Given the description of an element on the screen output the (x, y) to click on. 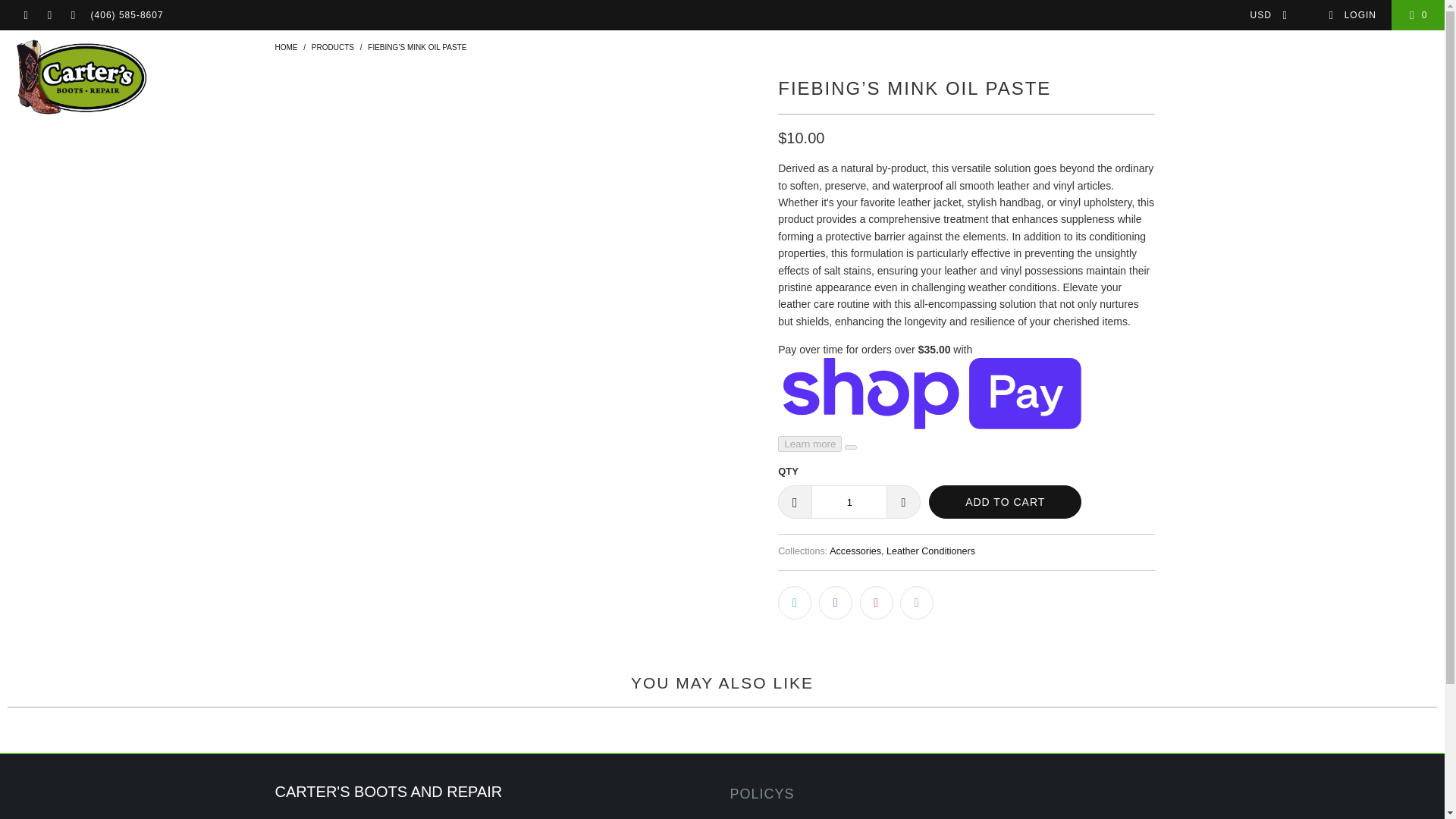
Leather Conditioners (930, 551)
Share this on Facebook (834, 602)
Accessories (854, 551)
1 (848, 501)
My Account  (1351, 15)
Email this to a friend (916, 602)
Share this on Pinterest (876, 602)
Carter's Boots and Repair (81, 77)
Carter's Boots and Repair on Instagram (48, 14)
Products (332, 47)
Email Carter's Boots and Repair (71, 14)
Carter's Boots and Repair (286, 47)
Carter's Boots and Repair on Facebook (25, 14)
Share this on Twitter (793, 602)
